Given the description of an element on the screen output the (x, y) to click on. 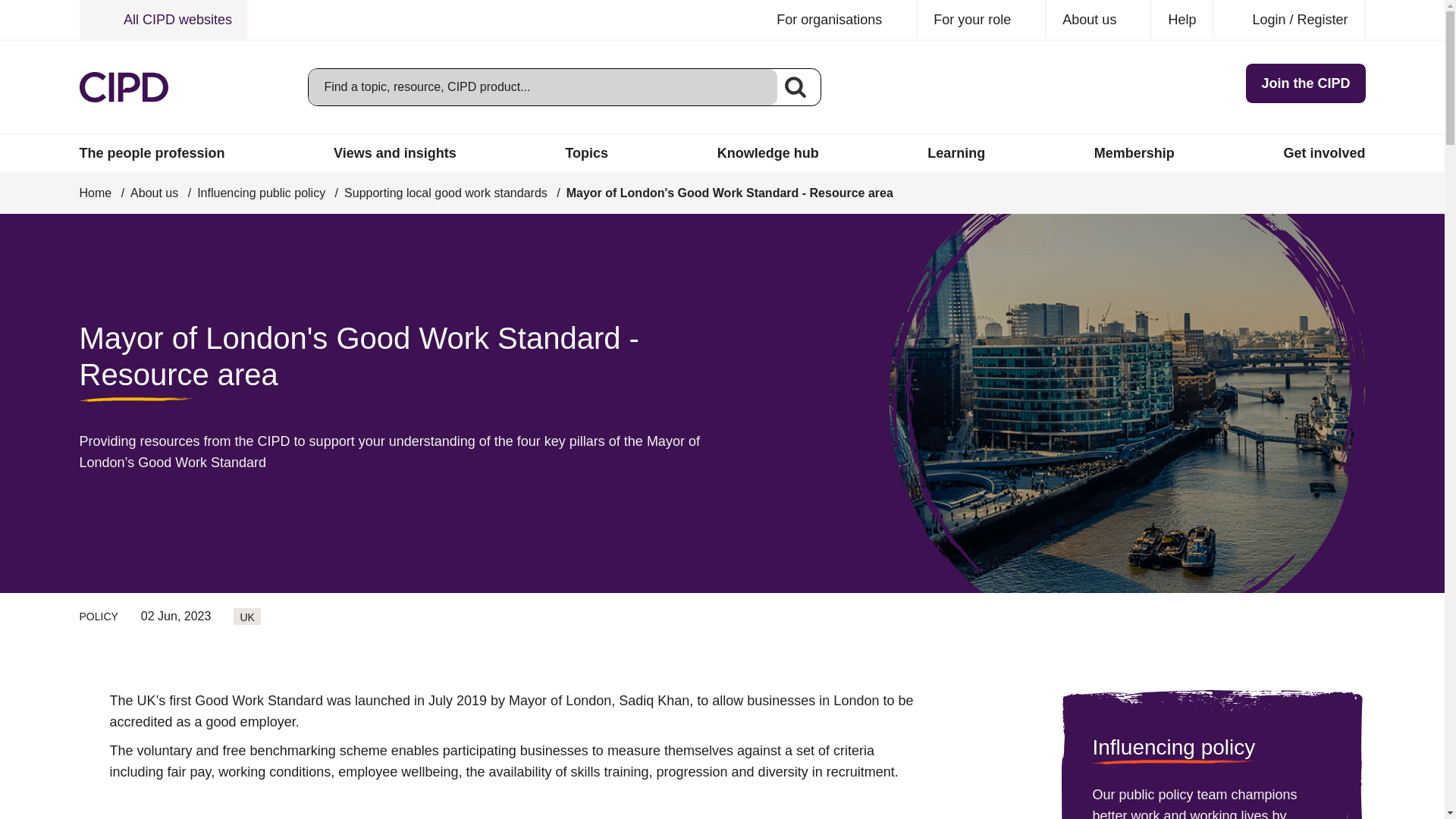
CIPD (123, 87)
All CIPD websites (162, 19)
For organisations (838, 19)
Help (1181, 19)
Search (795, 86)
For your role (981, 19)
Search (795, 86)
About us (1098, 19)
